Given the description of an element on the screen output the (x, y) to click on. 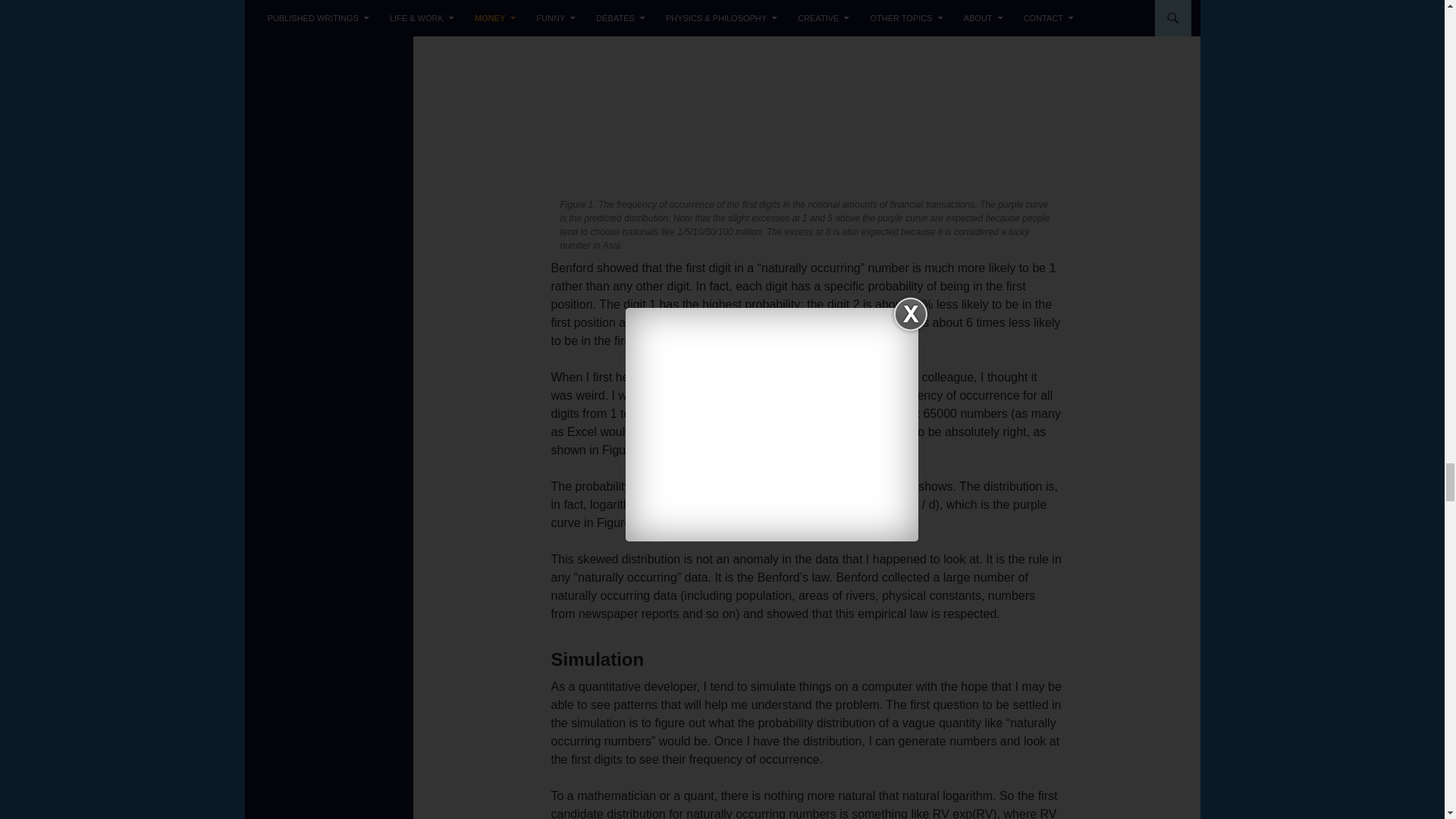
figure1 (805, 95)
